Given the description of an element on the screen output the (x, y) to click on. 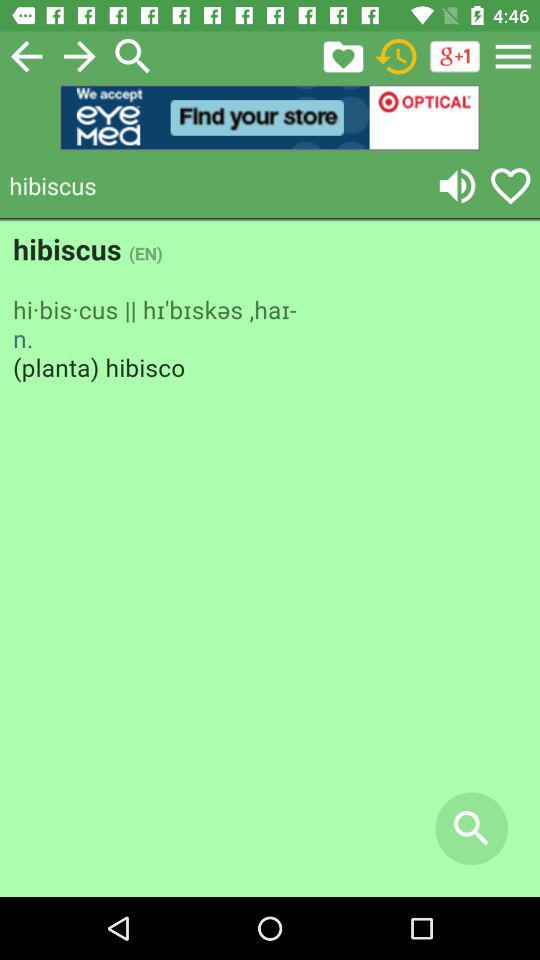
like symbol (510, 185)
